Given the description of an element on the screen output the (x, y) to click on. 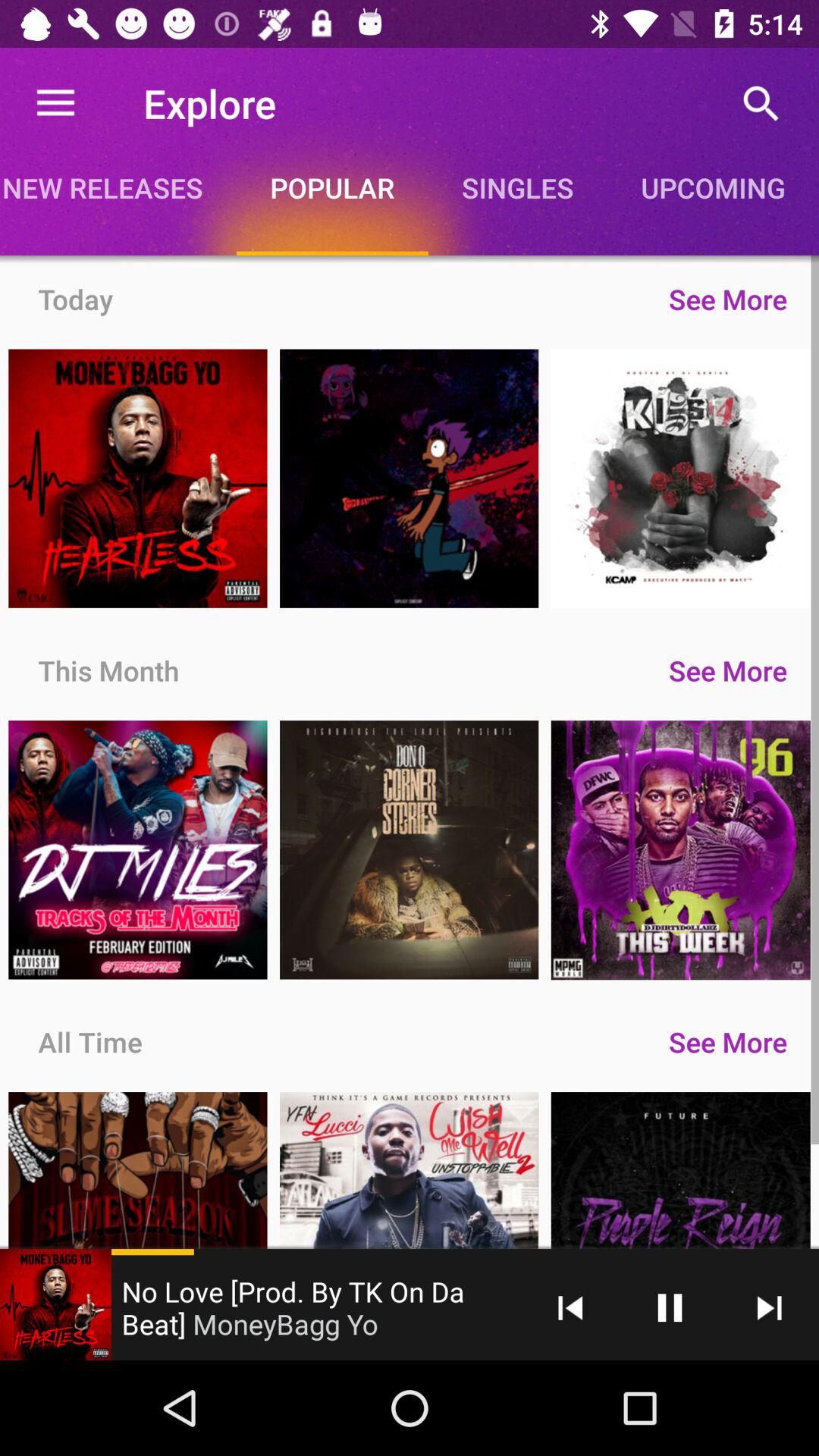
open singles item (517, 187)
